Given the description of an element on the screen output the (x, y) to click on. 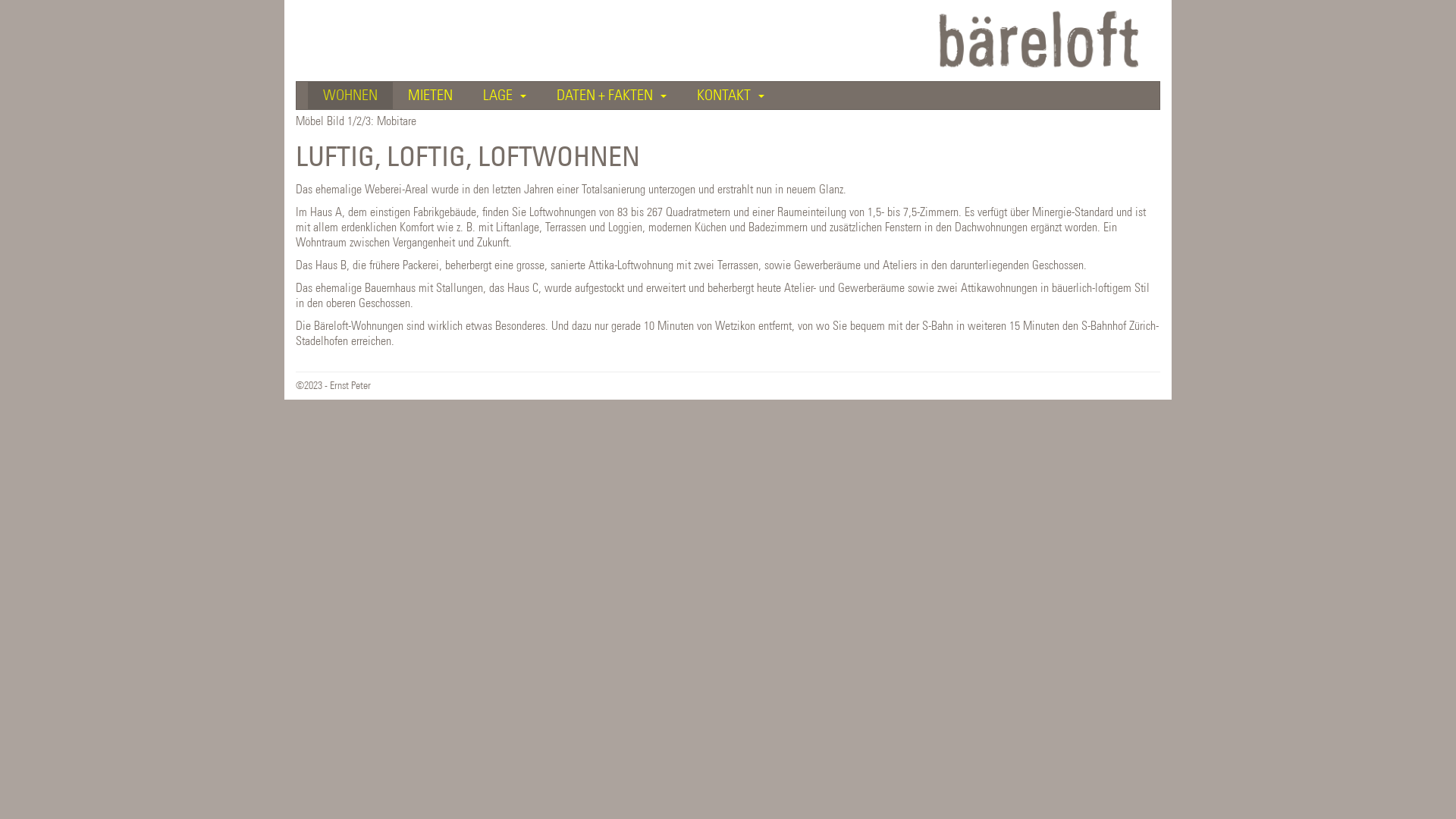
KONTAKT Element type: text (730, 95)
DATEN + FAKTEN Element type: text (611, 95)
WOHNEN Element type: text (349, 95)
MIETEN Element type: text (429, 95)
LAGE Element type: text (504, 95)
